Given the description of an element on the screen output the (x, y) to click on. 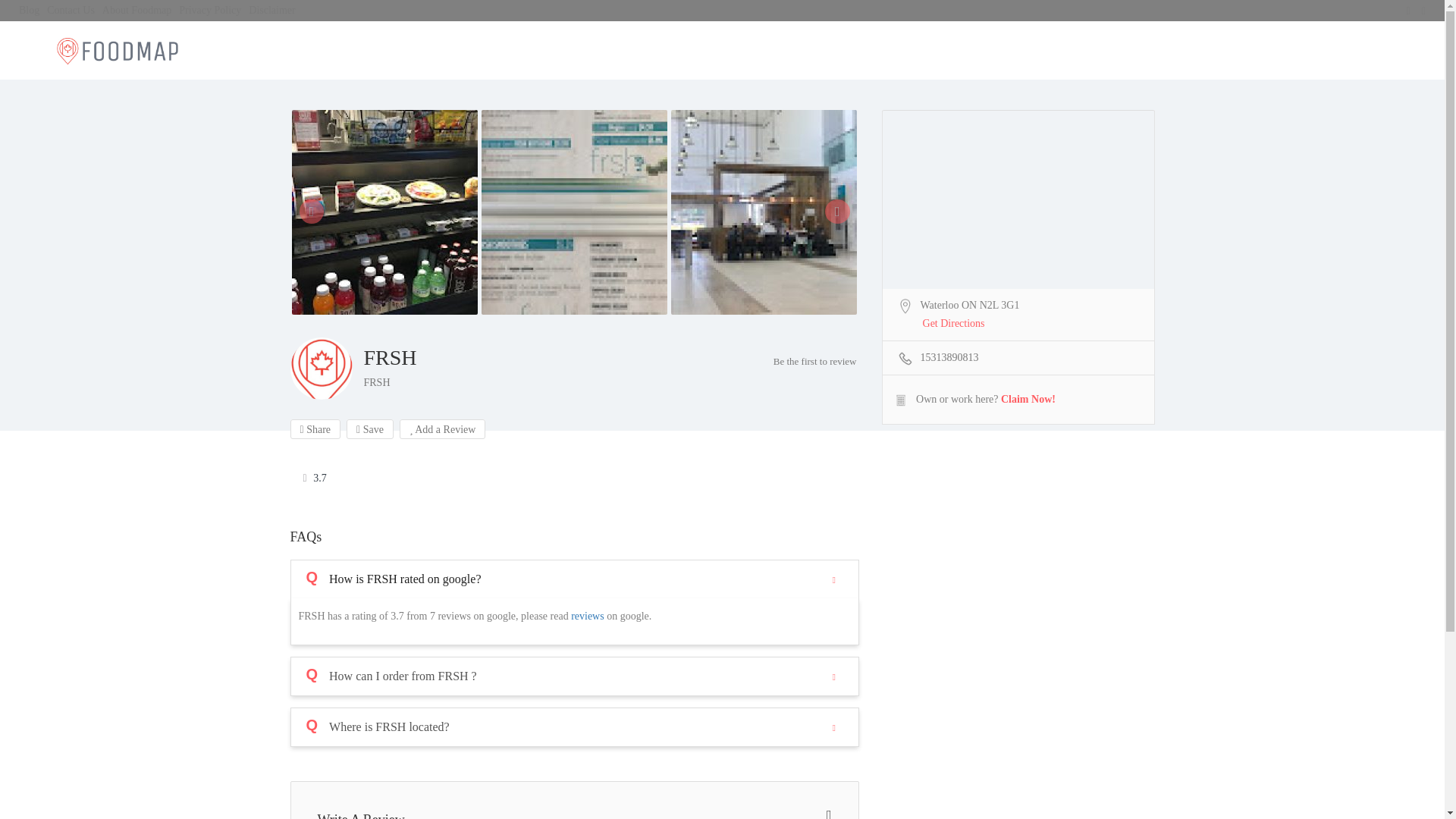
Contact Us (70, 9)
Submit (413, 502)
Blog (28, 9)
Privacy Policy (210, 9)
Disclaimer (271, 9)
About Foodmap (136, 9)
